Given the description of an element on the screen output the (x, y) to click on. 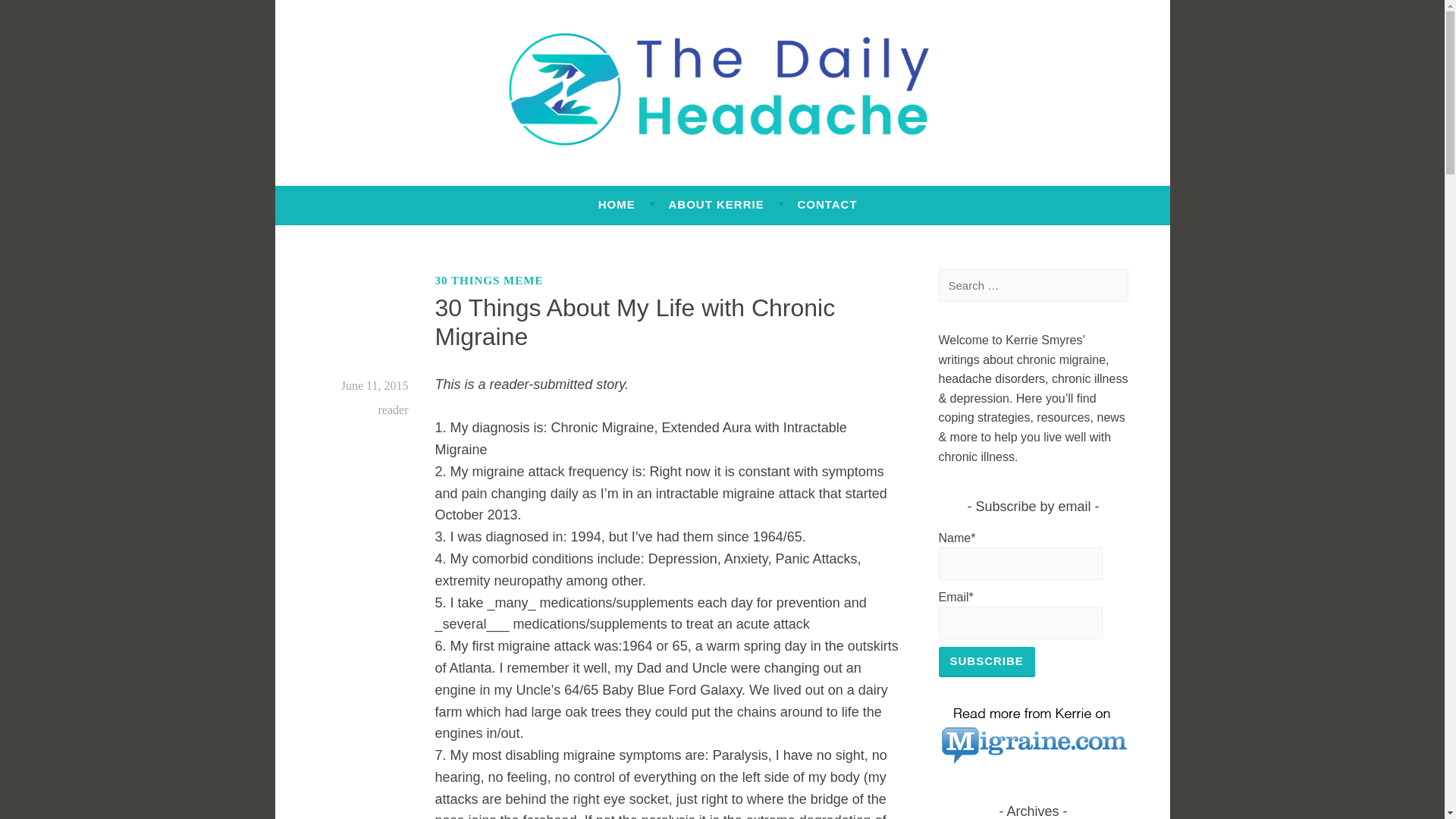
Subscribe (987, 662)
reader (393, 409)
The Daily Headache (463, 178)
Search (37, 15)
Subscribe (987, 662)
ABOUT KERRIE (716, 204)
June 11, 2015 (374, 385)
HOME (616, 204)
CONTACT (826, 204)
30 THINGS MEME (489, 280)
